Given the description of an element on the screen output the (x, y) to click on. 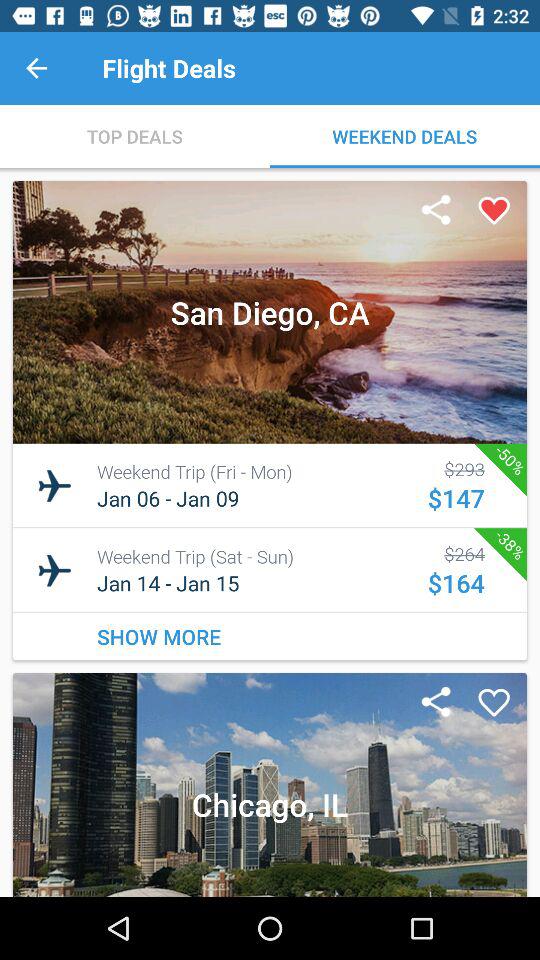
share link (435, 703)
